Given the description of an element on the screen output the (x, y) to click on. 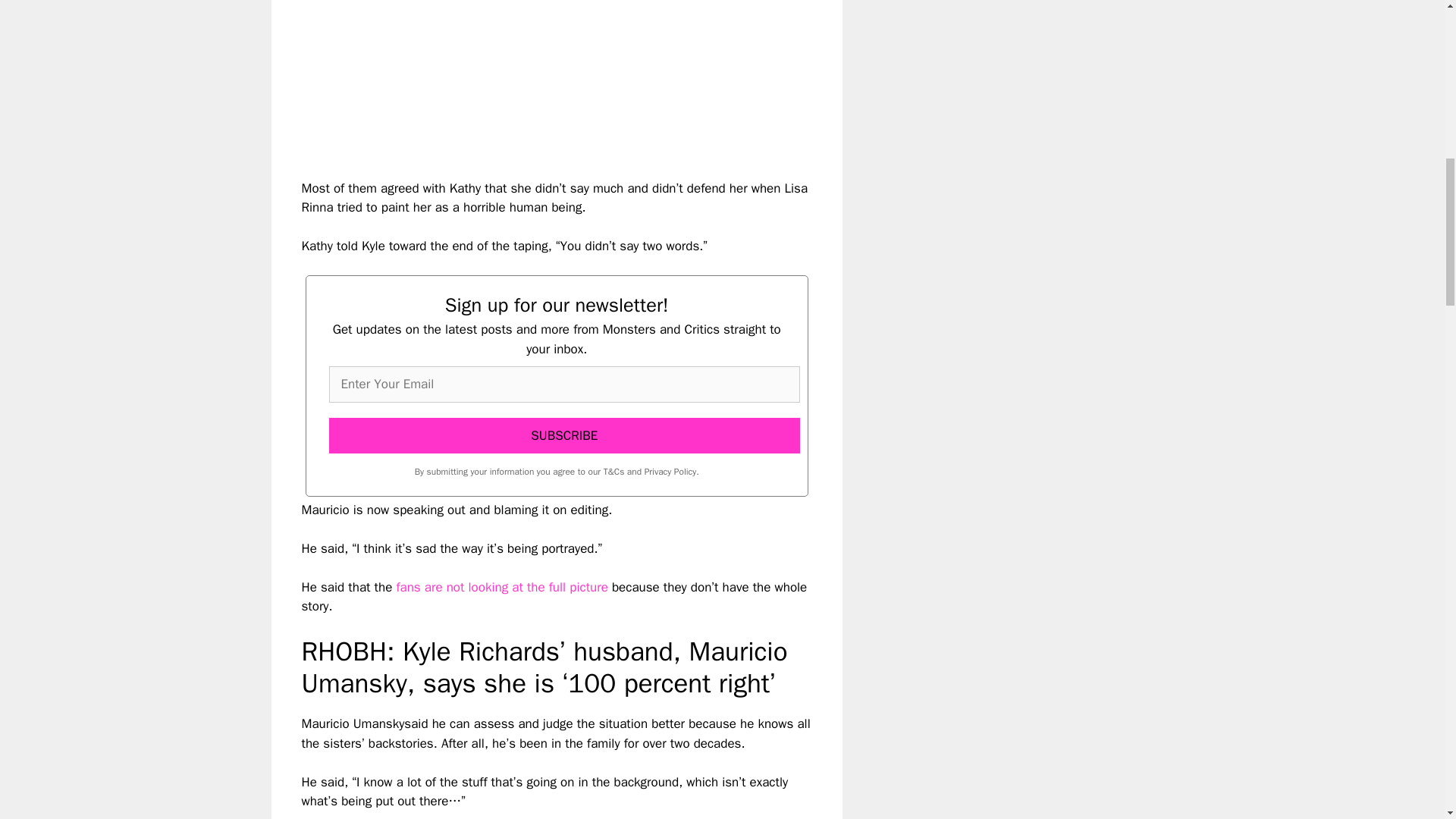
SUBSCRIBE (564, 435)
fans are not looking at the full picture (501, 587)
SUBSCRIBE (564, 435)
YouTube video player (513, 76)
